Given the description of an element on the screen output the (x, y) to click on. 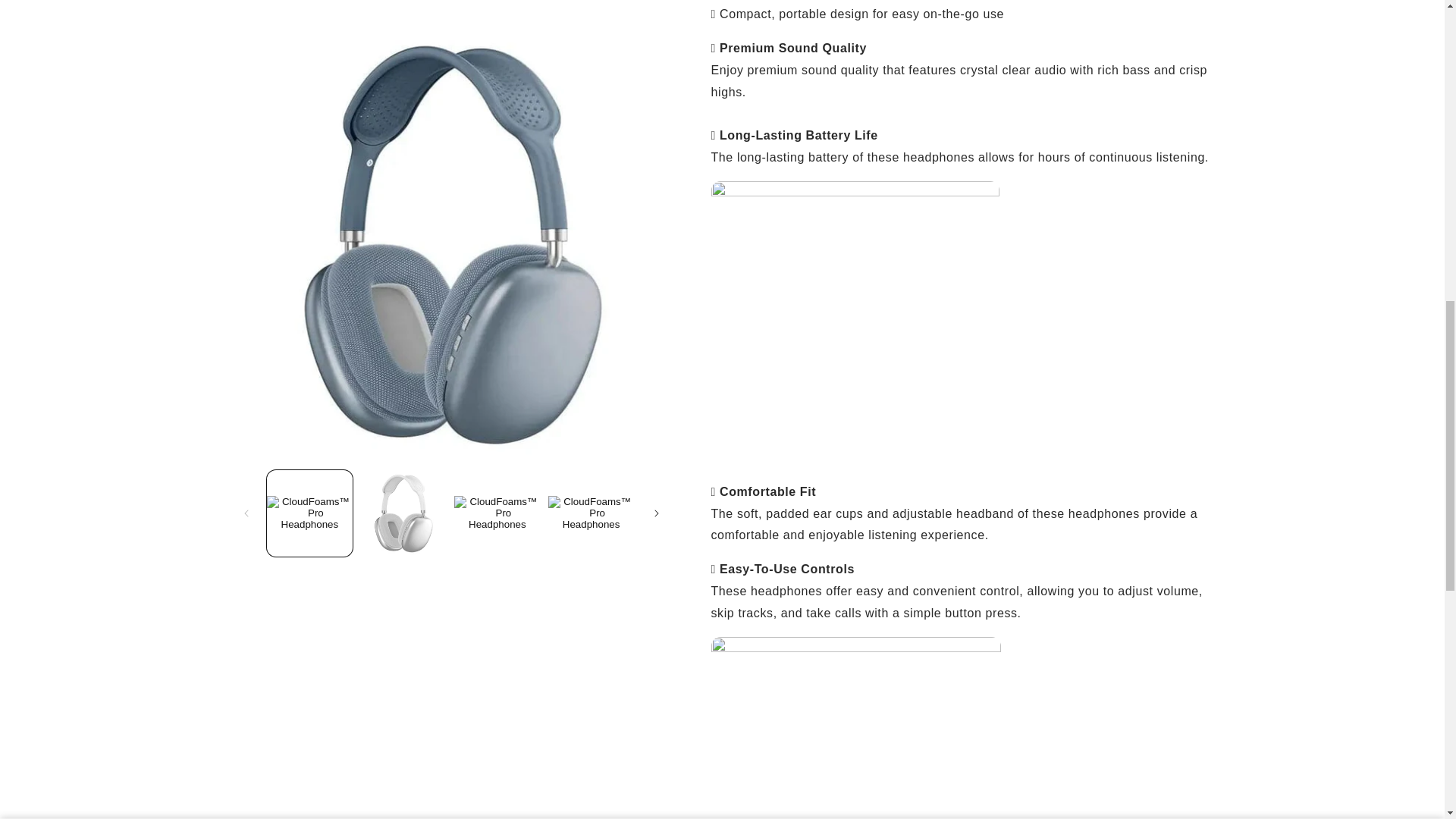
Add to cart (1150, 26)
